Given the description of an element on the screen output the (x, y) to click on. 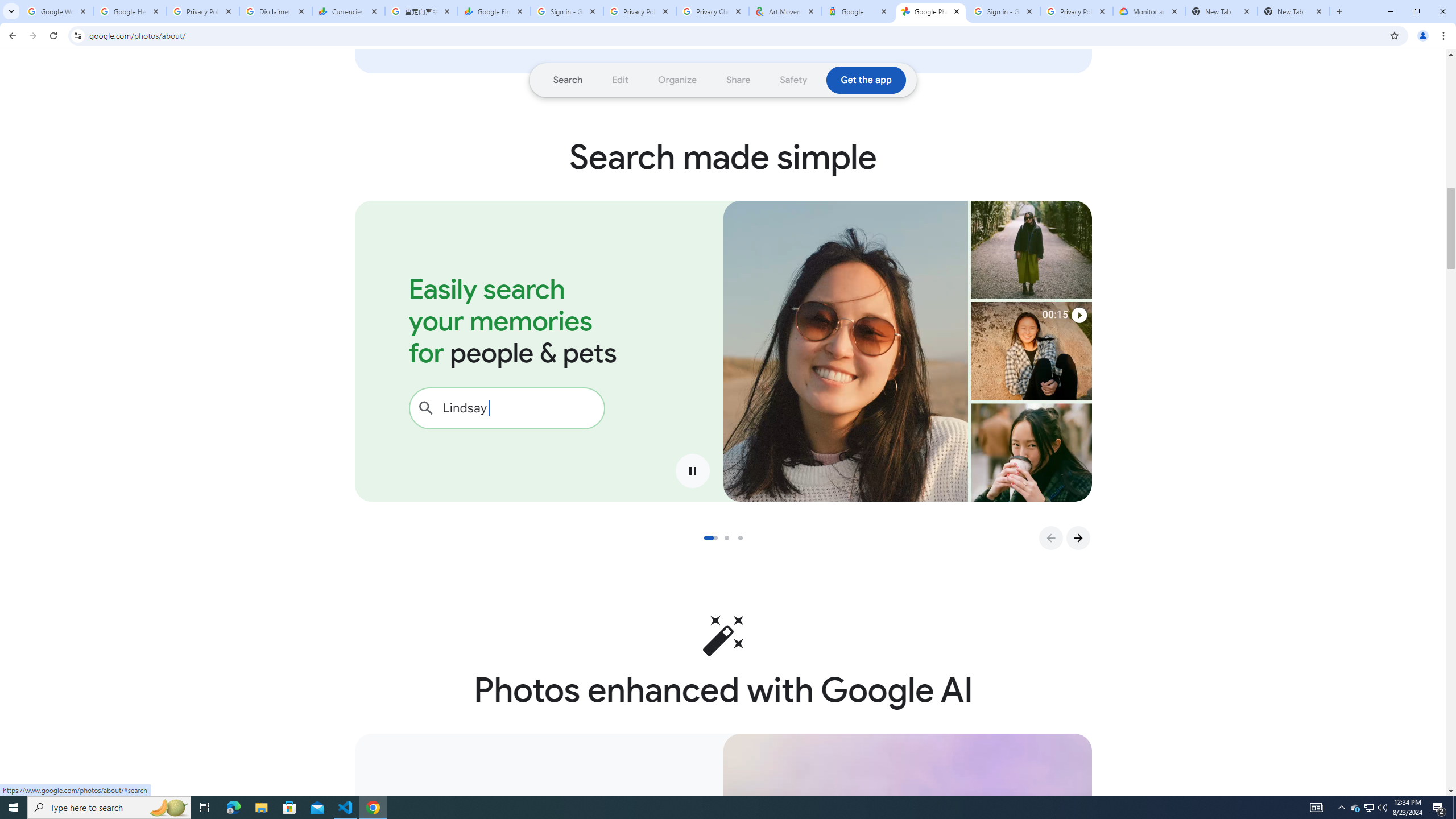
Download the Google Photos app (866, 80)
